Given the description of an element on the screen output the (x, y) to click on. 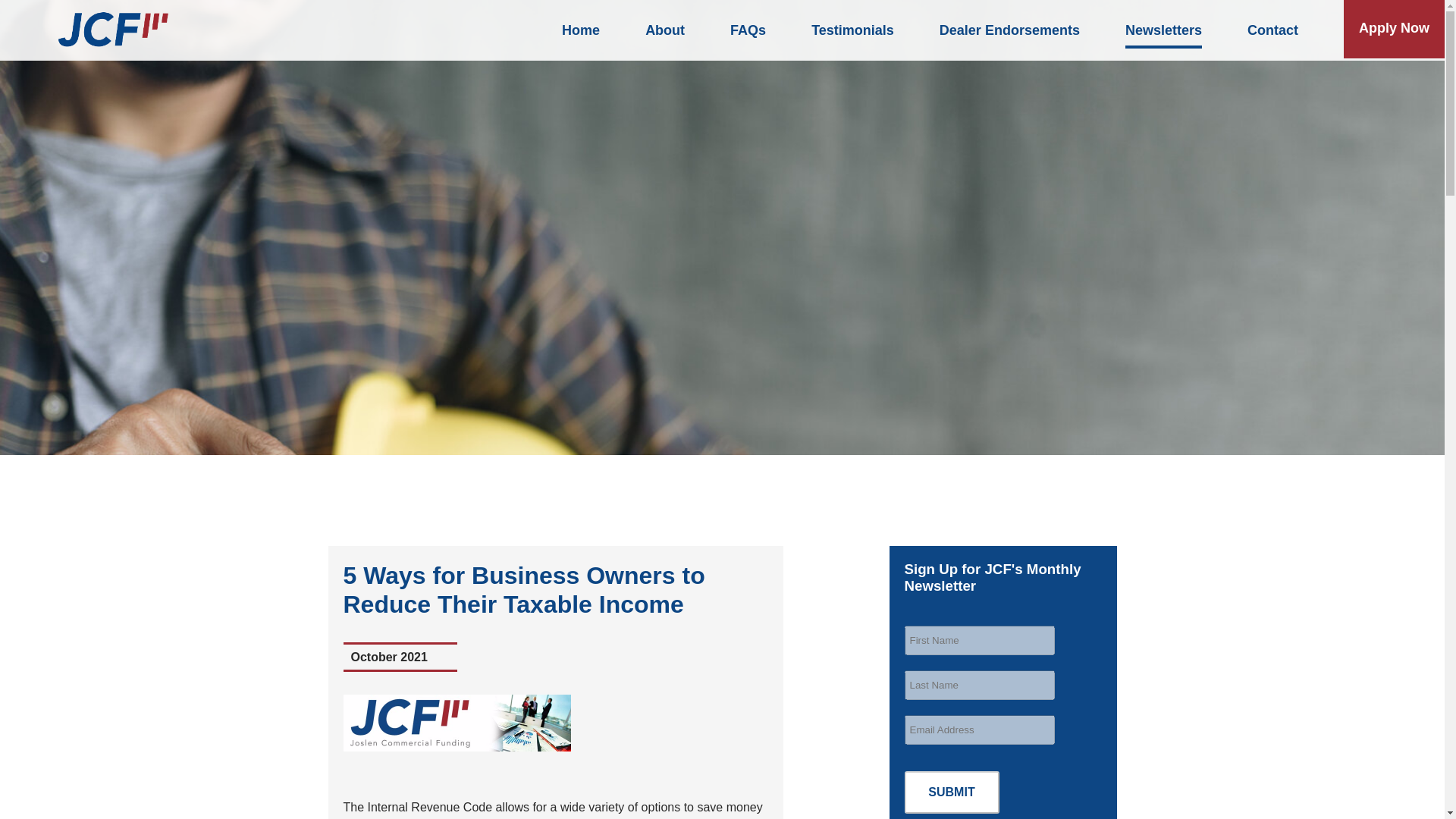
SUBMIT (951, 792)
FAQs (747, 30)
Testimonials (851, 30)
Home (580, 30)
Contact (1272, 30)
Dealer Endorsements (1009, 30)
About (664, 30)
Newsletters (1163, 31)
